Given the description of an element on the screen output the (x, y) to click on. 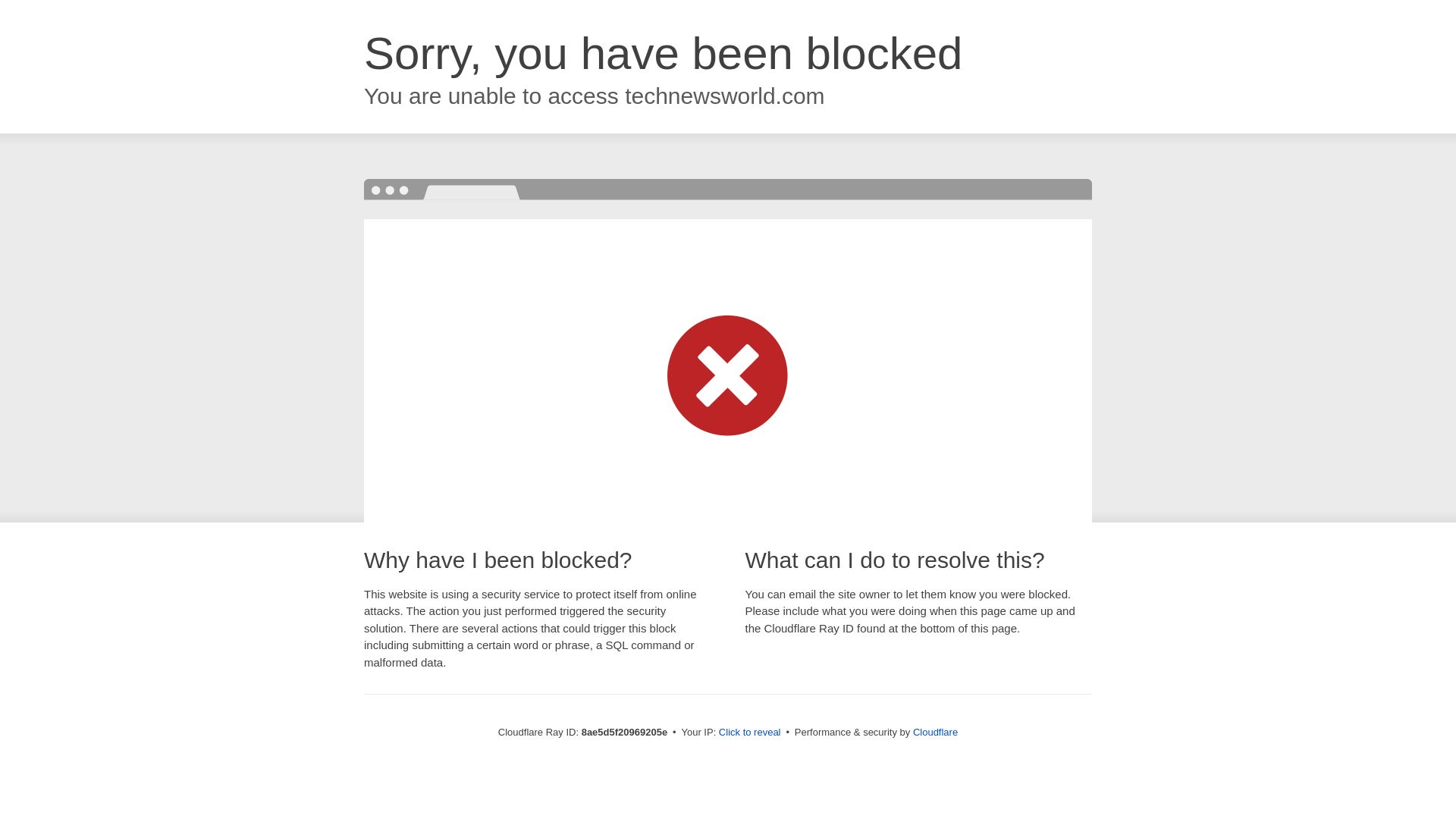
Cloudflare (935, 731)
Click to reveal (749, 732)
